Given the description of an element on the screen output the (x, y) to click on. 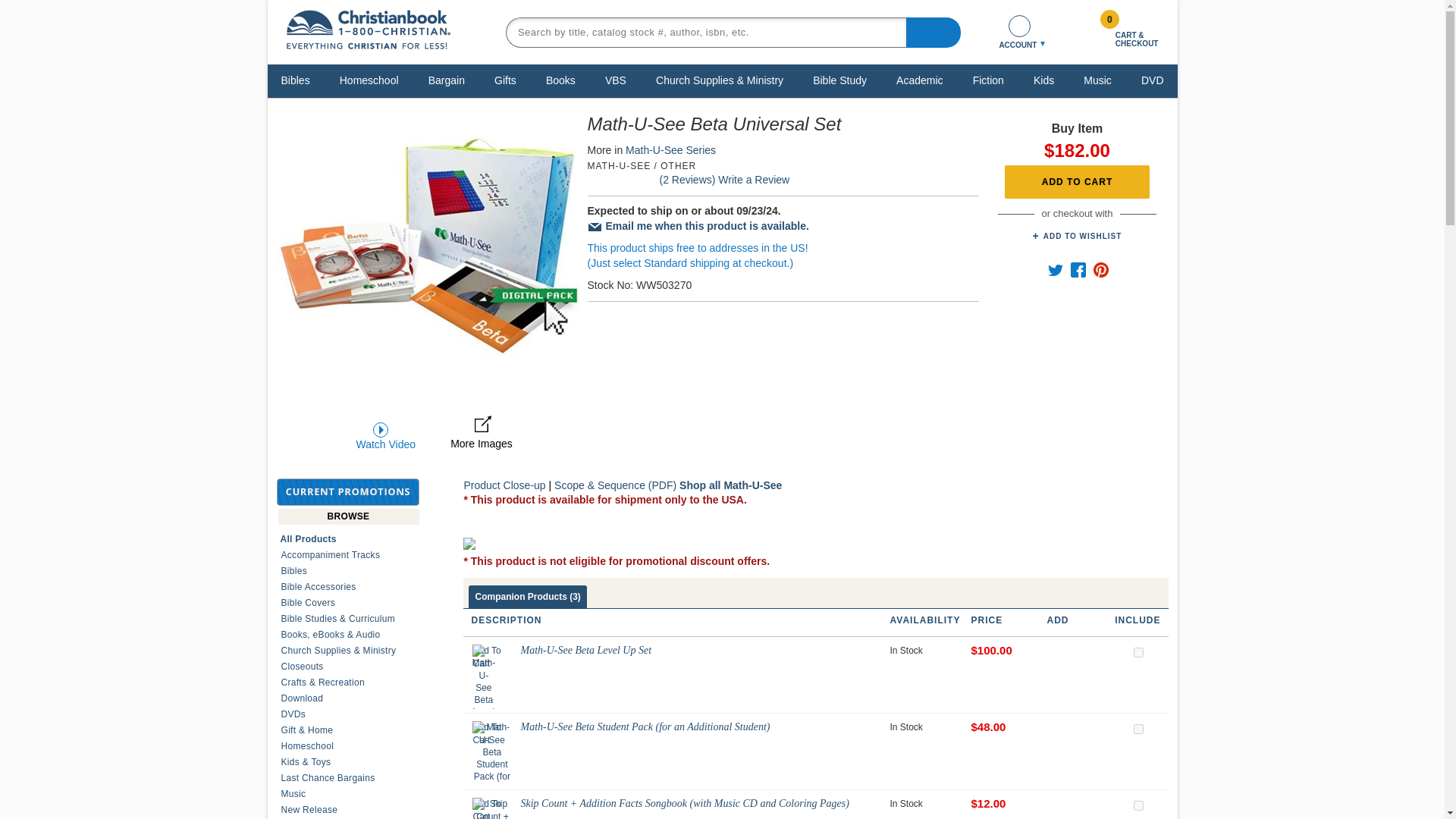
Place in Bookbag (1077, 182)
Homeschool (369, 79)
VBS (615, 79)
Gifts (505, 79)
DVD (1152, 79)
Books (560, 79)
Math-U-See Series (671, 150)
SEARCH (932, 31)
Music (1097, 79)
Bibles (295, 79)
